Given the description of an element on the screen output the (x, y) to click on. 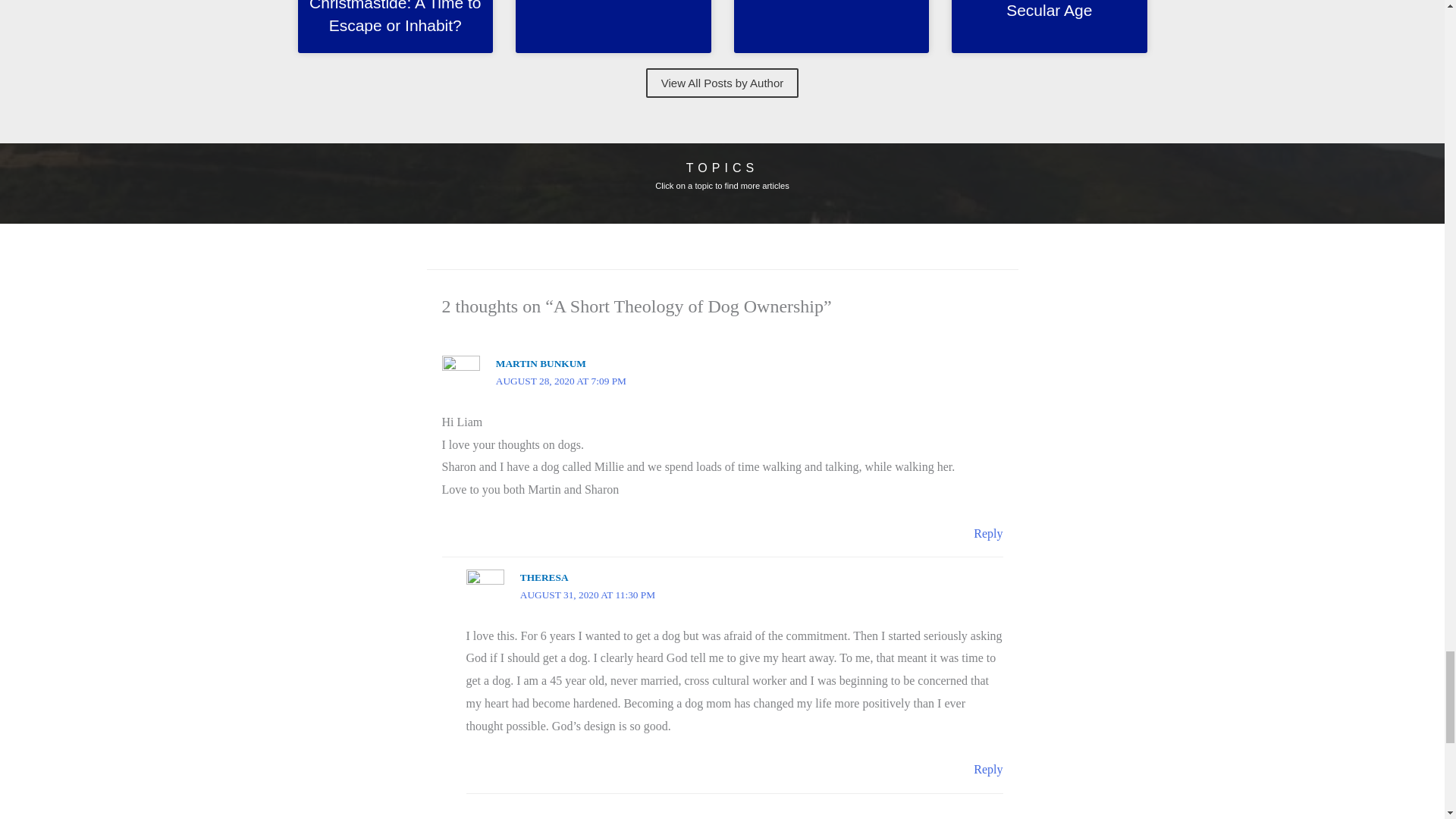
Reply (988, 768)
AUGUST 28, 2020 AT 7:09 PM (561, 380)
View All Posts by Author (721, 82)
Reply (988, 533)
AUGUST 31, 2020 AT 11:30 PM (587, 594)
Christmastide: A Time to Escape or Inhabit? (394, 16)
